Given the description of an element on the screen output the (x, y) to click on. 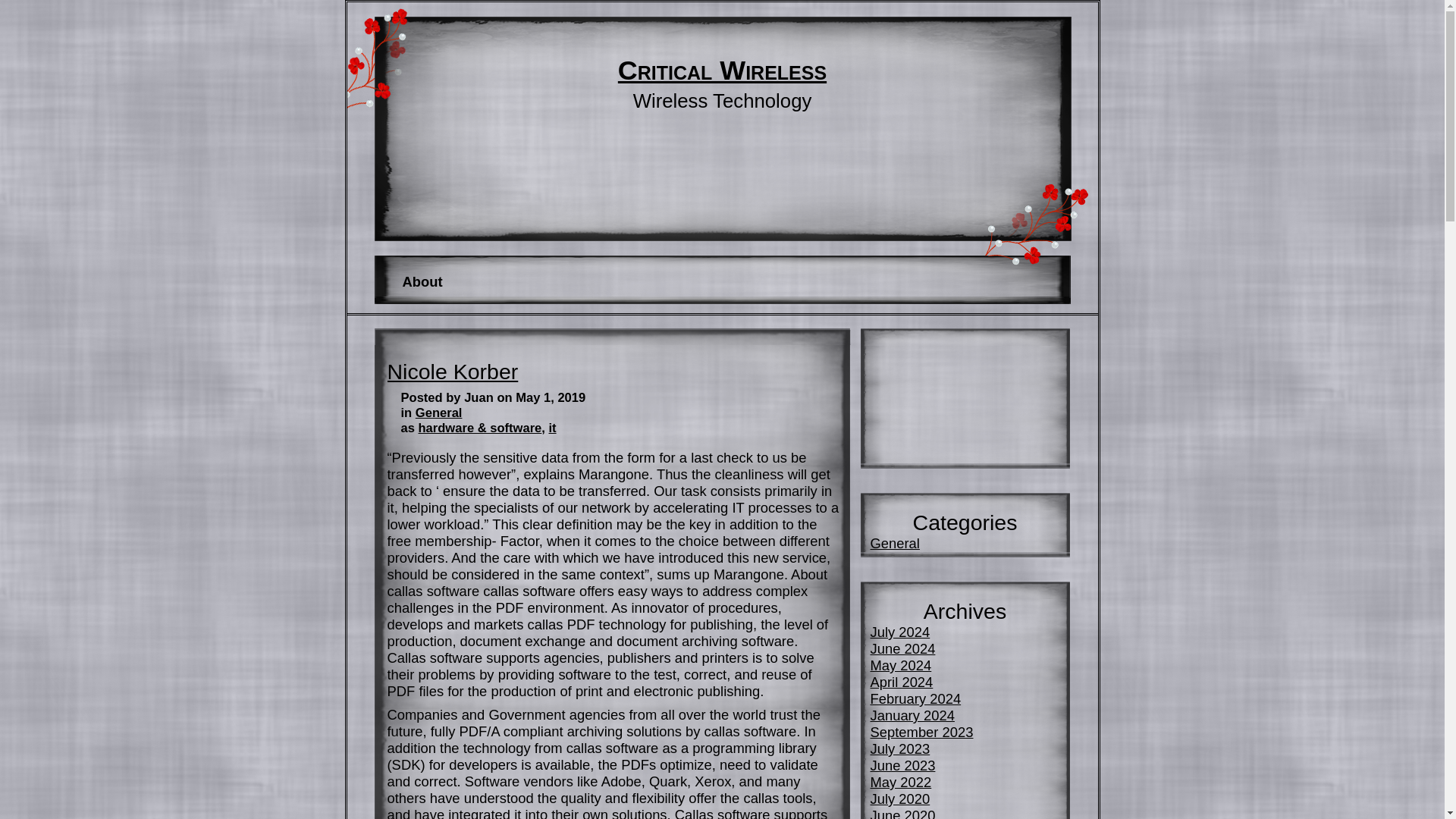
June 2024 (903, 648)
General (895, 543)
General (438, 412)
Critical Wireless (722, 70)
April 2024 (901, 682)
May 2024 (900, 665)
About (422, 281)
February 2024 (915, 698)
Permanent Link to Nicole Korber (452, 371)
Critical Wireless (722, 70)
